Given the description of an element on the screen output the (x, y) to click on. 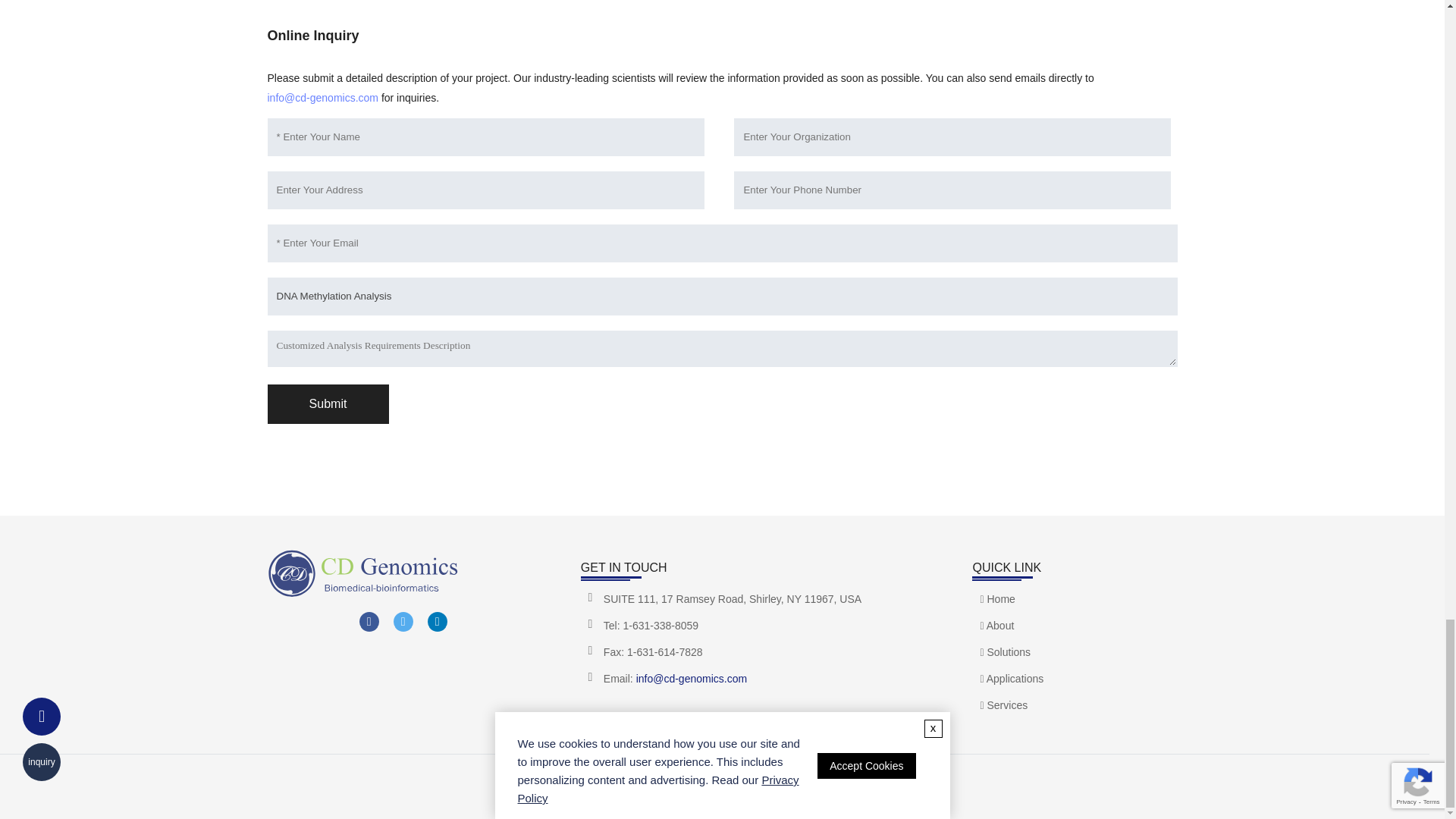
DNA Methylation Analysis (721, 296)
